Given the description of an element on the screen output the (x, y) to click on. 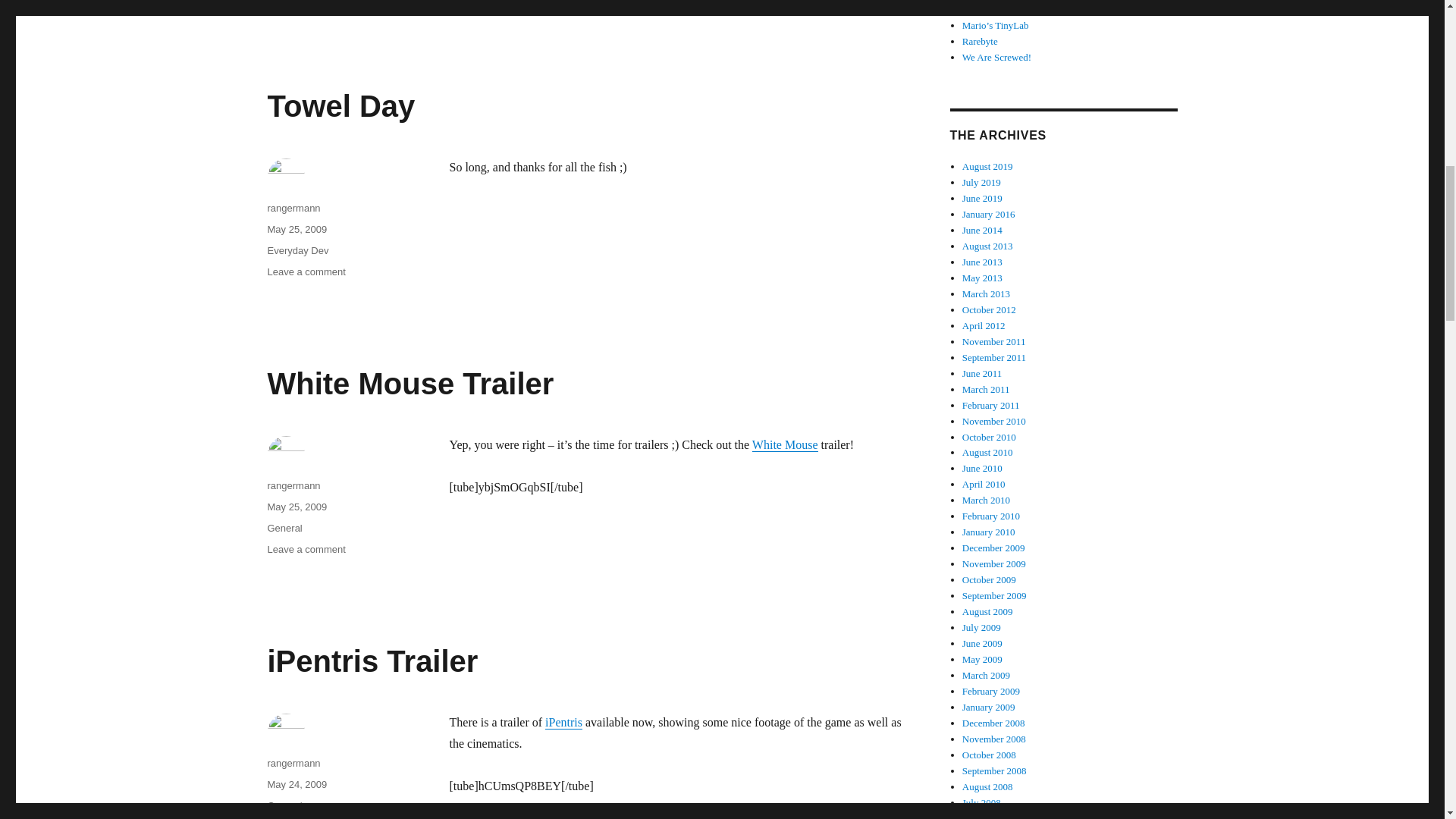
White Mouse Trailer (409, 383)
iPentris (563, 721)
iPentris Trailer (371, 661)
rangermann (293, 485)
Towel Day (340, 105)
General (283, 527)
rangermann (305, 271)
May 25, 2009 (293, 763)
rangermann (296, 229)
General (293, 207)
White Mouse (305, 549)
May 24, 2009 (283, 805)
May 25, 2009 (785, 444)
